Given the description of an element on the screen output the (x, y) to click on. 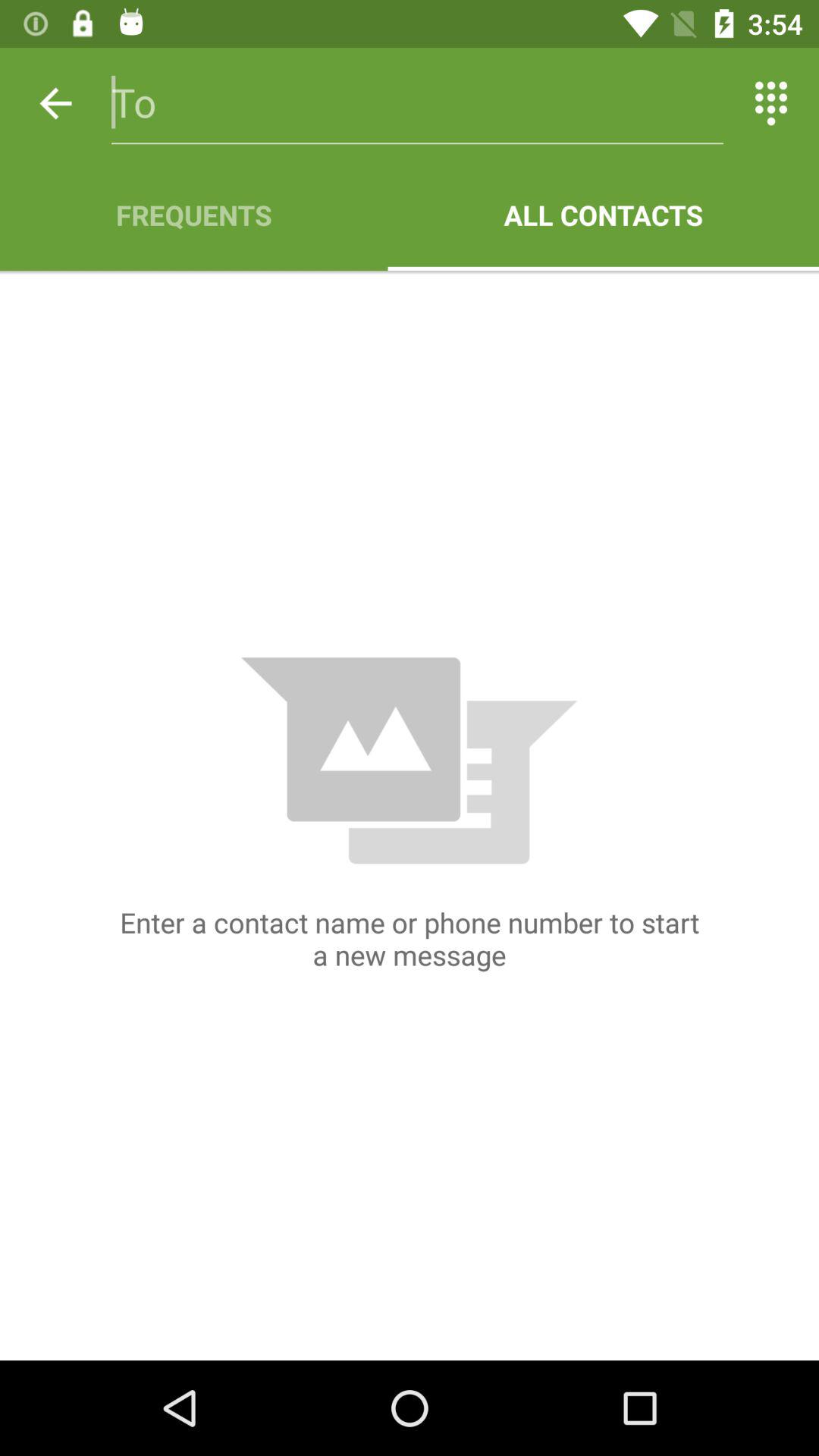
launch the app above all contacts (771, 103)
